Given the description of an element on the screen output the (x, y) to click on. 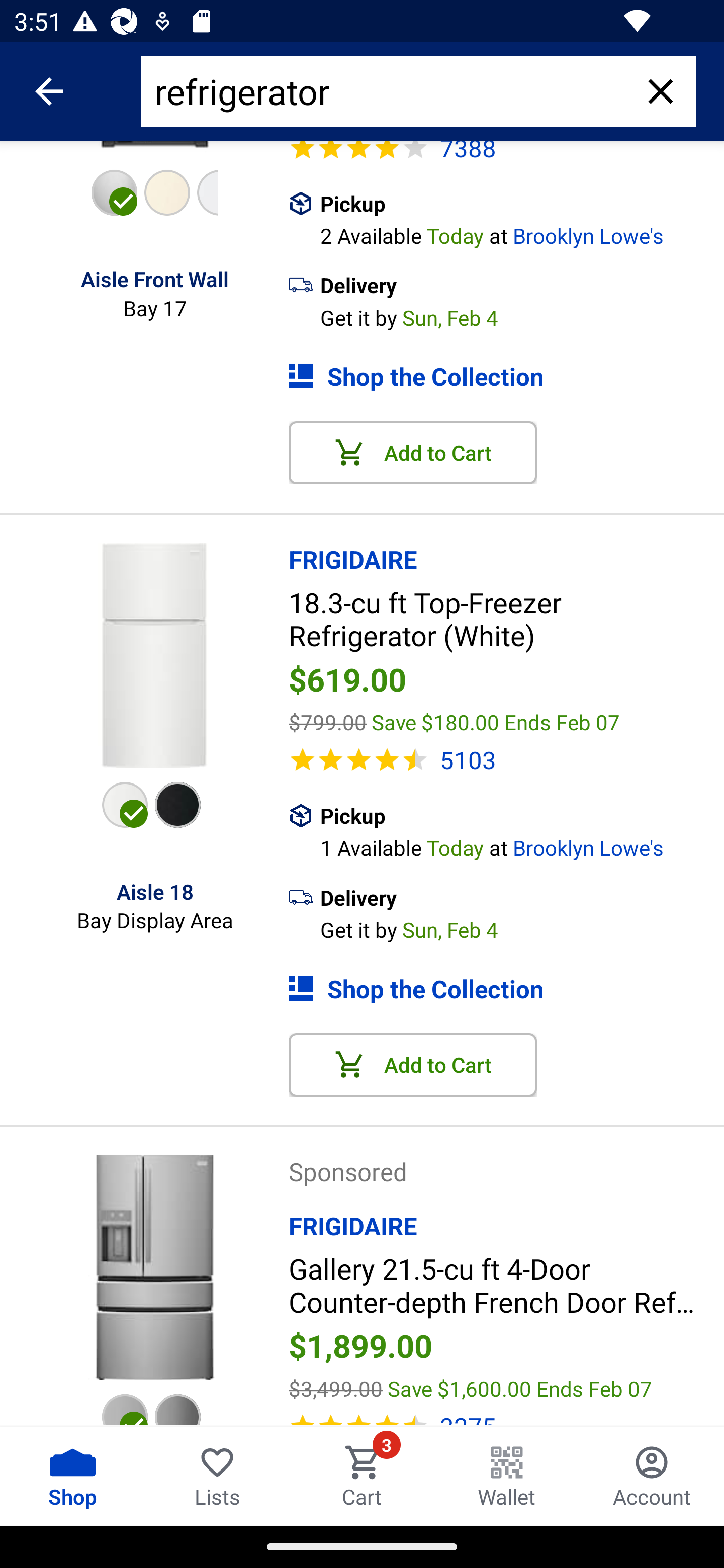
Navigate up (49, 91)
refrigerator (389, 91)
2 Available Today  at  Brooklyn Lowe's (522, 233)
Shop the Collection (506, 376)
Add to Cart (412, 452)
1 Available Today  at  Brooklyn Lowe's (522, 845)
Shop the Collection (506, 988)
Add to Cart (412, 1064)
Lists (216, 1475)
Cart Cart 3 (361, 1475)
Wallet (506, 1475)
Account (651, 1475)
